Given the description of an element on the screen output the (x, y) to click on. 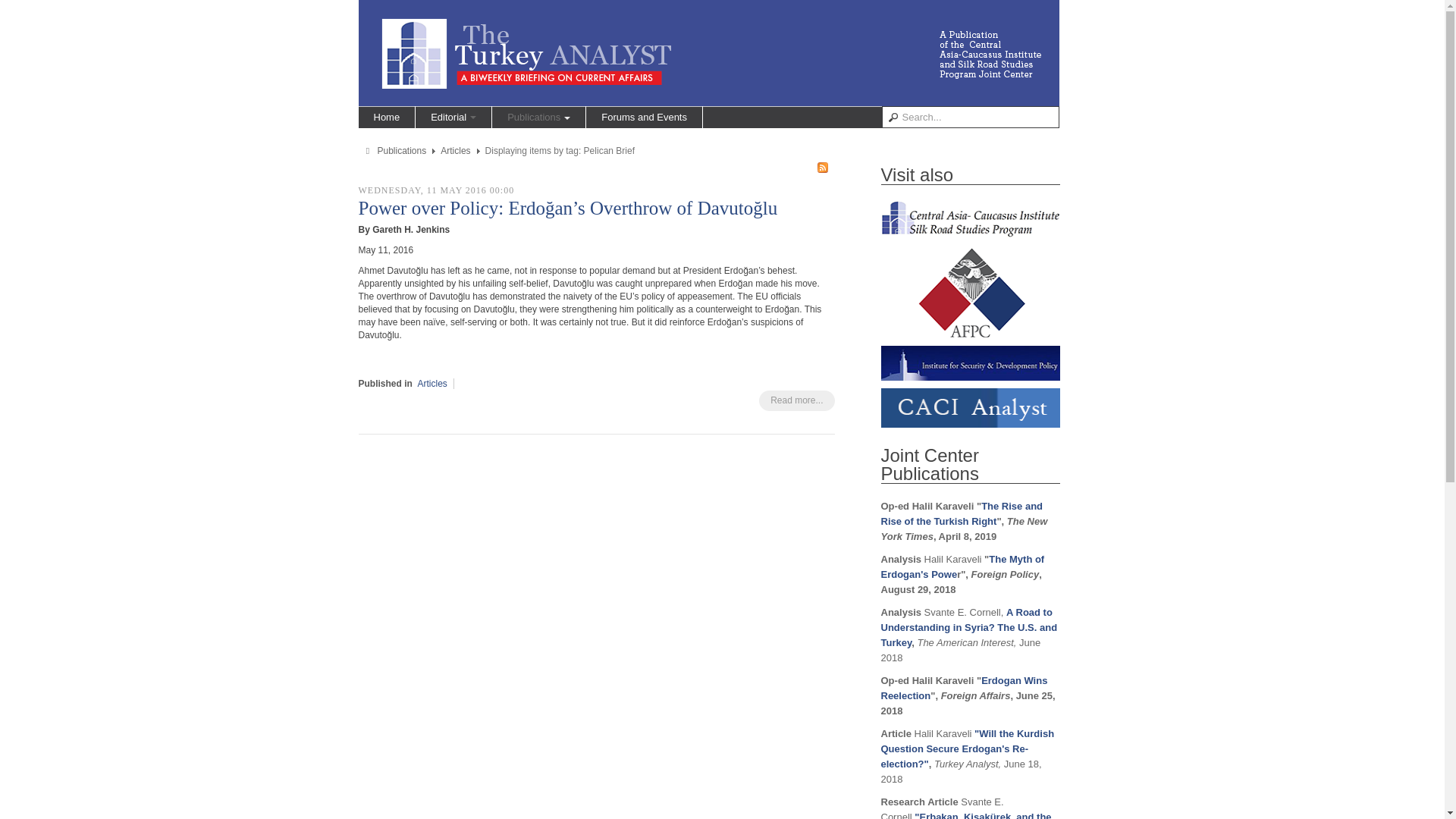
The Myth of Erdogan's Powe (962, 566)
Forums and Events (643, 117)
Publications (401, 150)
Articles (431, 383)
The Rise and Rise of the Turkish Right (961, 513)
"Will the Kurdish Question Secure Erdogan's Re-election?" (967, 748)
Publications (538, 117)
Read more... (796, 400)
A Road to Understanding in Syria? The U.S. and Turkey (969, 627)
Subscribe to this RSS feed (821, 167)
Articles (455, 150)
Home (386, 117)
Editorial (453, 117)
Erdogan Wins Reelection (964, 687)
